Given the description of an element on the screen output the (x, y) to click on. 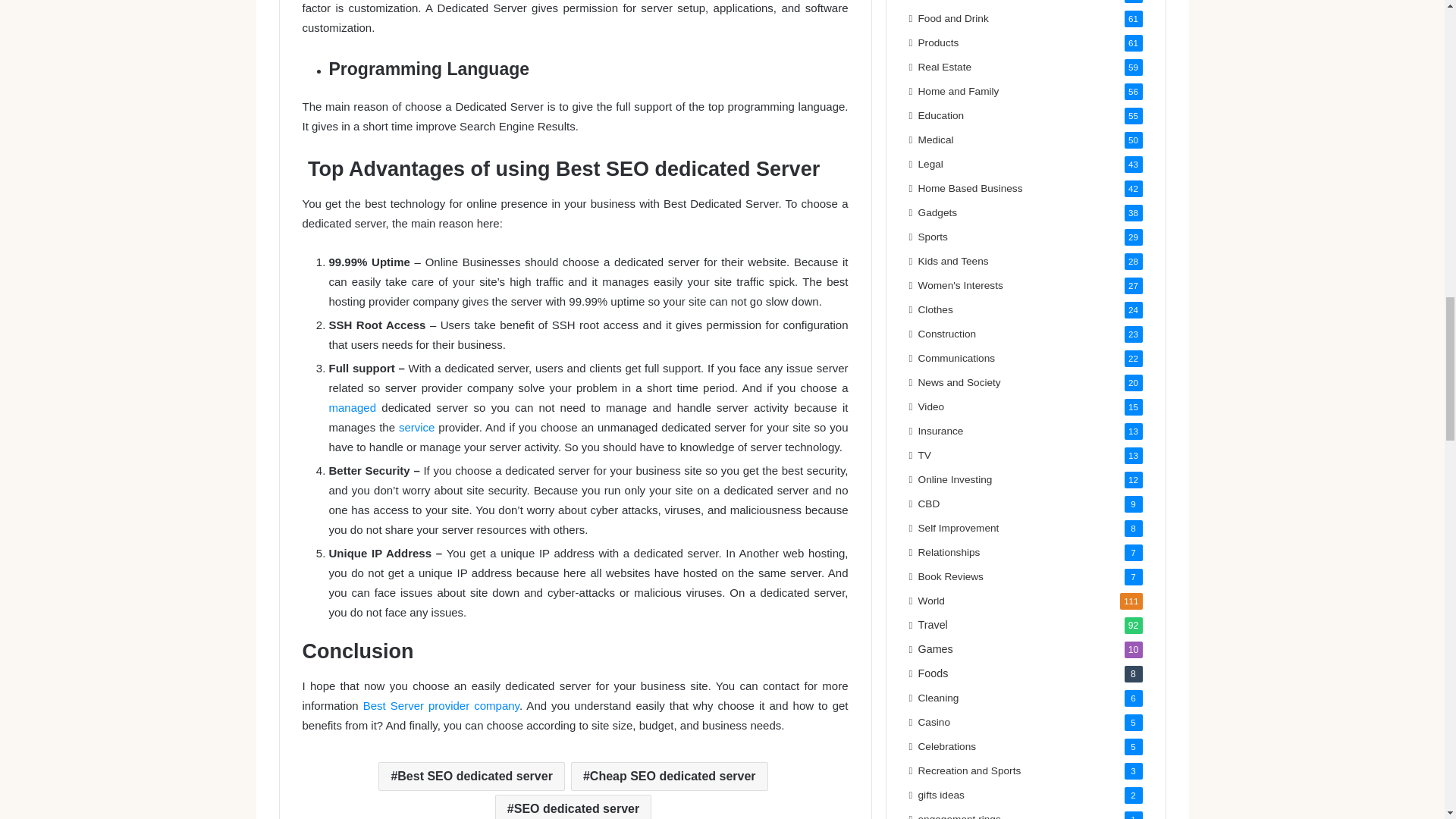
Cheap SEO dedicated server (669, 776)
Best SEO dedicated server (471, 776)
managed (353, 407)
Best Server provider company (440, 705)
SEO dedicated server (572, 806)
service (416, 427)
